Given the description of an element on the screen output the (x, y) to click on. 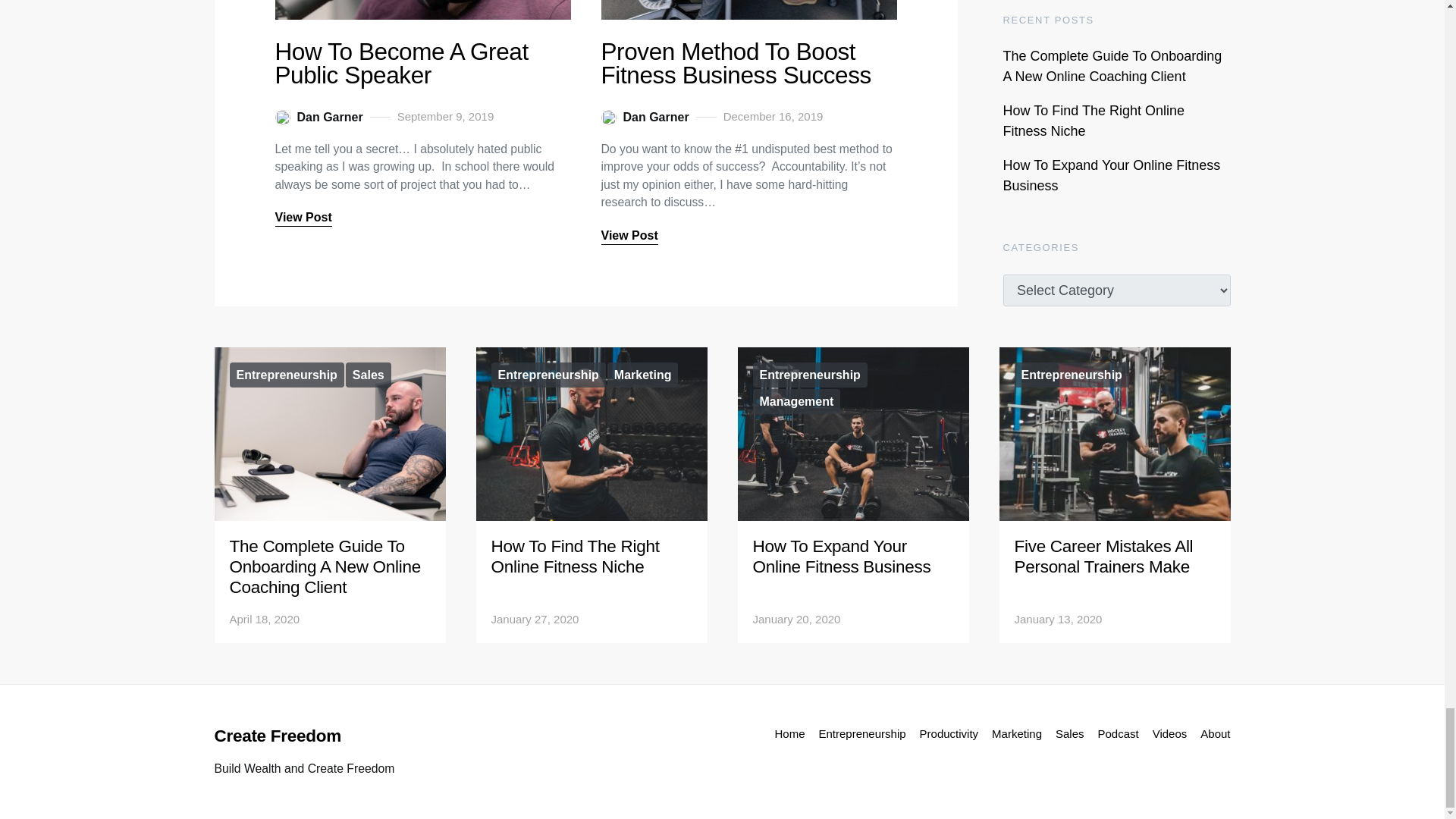
How To Expand Your Online Fitness Business (841, 556)
Dan Garner (318, 117)
View all posts by Dan Garner (318, 117)
View all posts by Dan Garner (643, 117)
How To Become A Great Public Speaker (401, 62)
How To Find The Right Online Fitness Niche (575, 556)
Five Career Mistakes All Personal Trainers Make (1103, 556)
View Post (303, 218)
